Given the description of an element on the screen output the (x, y) to click on. 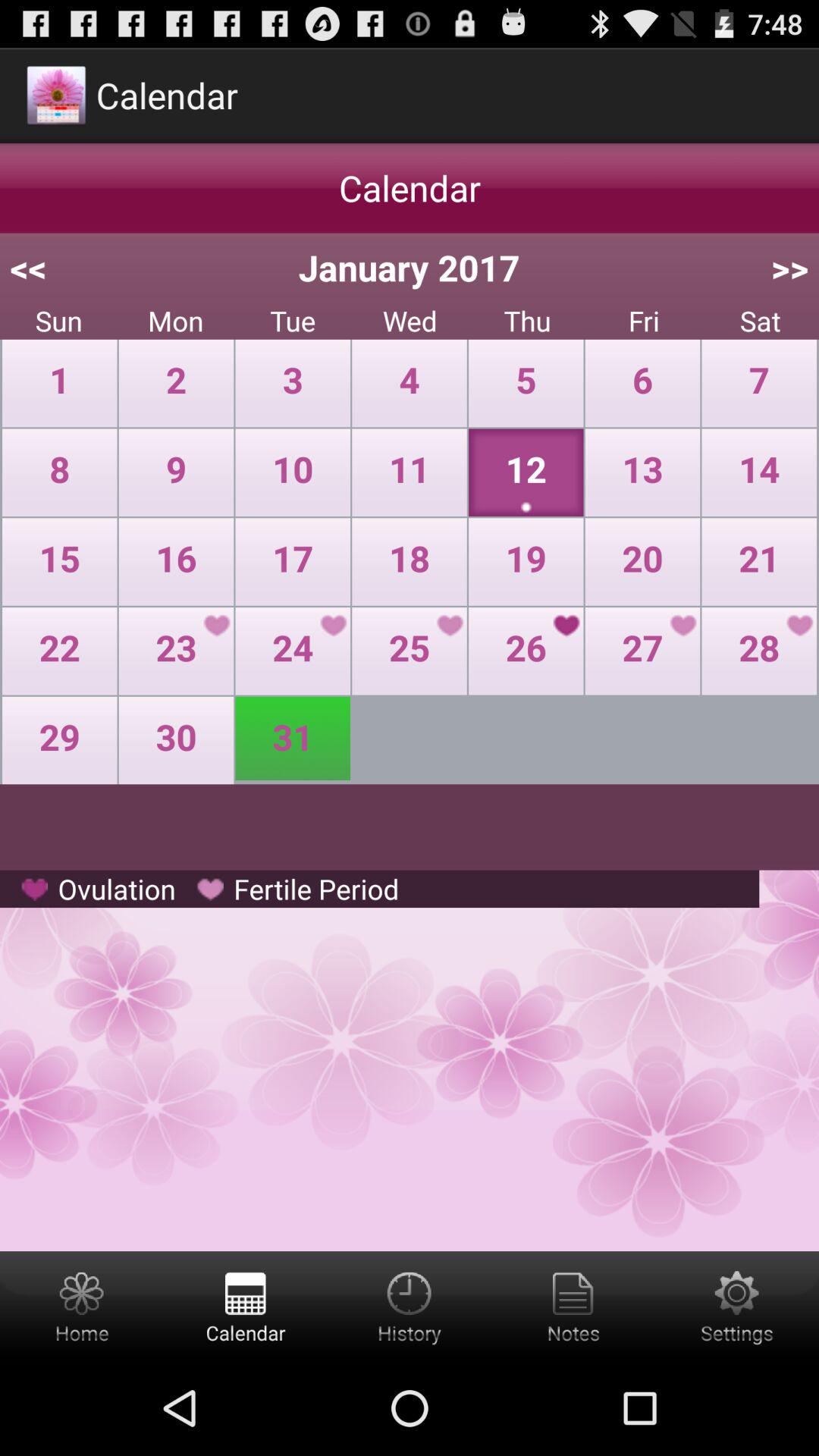
select date (409, 1305)
